Given the description of an element on the screen output the (x, y) to click on. 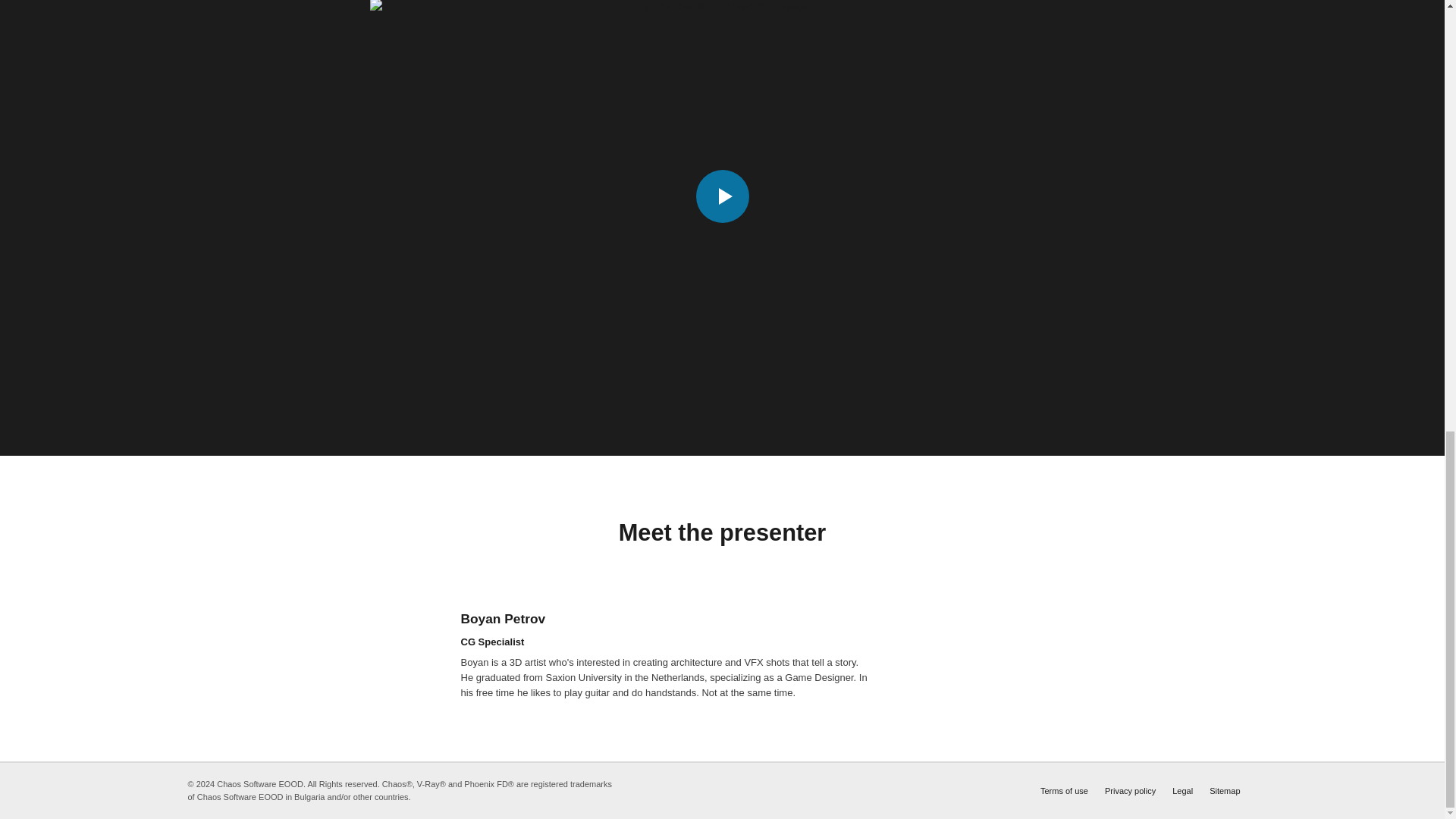
Sitemap (1224, 790)
Terms of use (1064, 790)
Legal (1182, 790)
Sitemap (1224, 790)
Privacy policy (1130, 790)
Terms of use (1064, 790)
Legal (1182, 790)
Privacy policy (1130, 790)
